Given the description of an element on the screen output the (x, y) to click on. 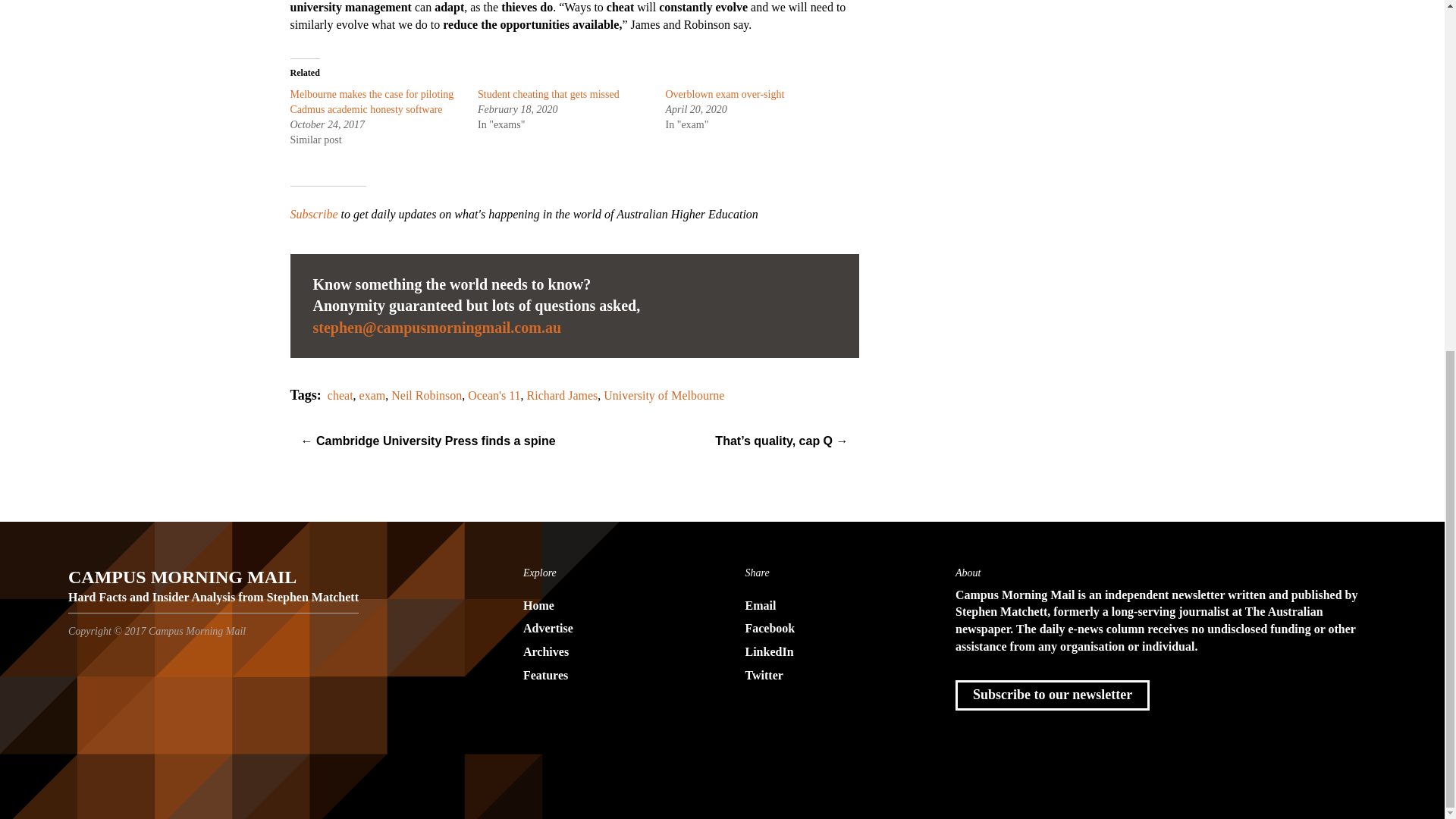
Home (611, 606)
Advertise (611, 628)
Advertise (611, 628)
Student cheating that gets missed (548, 93)
exam (372, 395)
Student cheating that gets missed (548, 93)
Twitter (833, 675)
Archives (611, 652)
Richard James (562, 395)
Archives (611, 652)
